Given the description of an element on the screen output the (x, y) to click on. 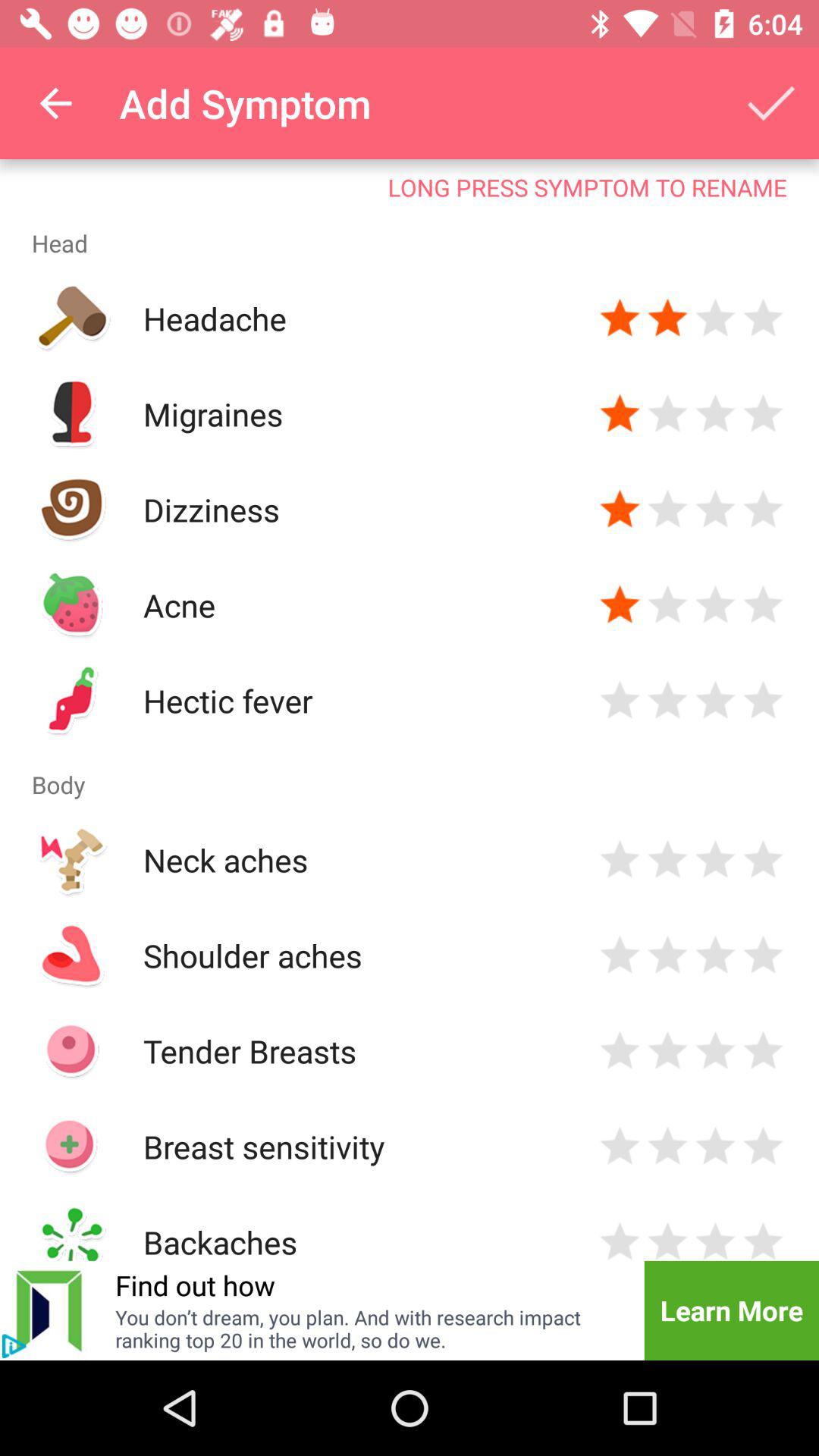
rate the level of symptom (763, 318)
